Given the description of an element on the screen output the (x, y) to click on. 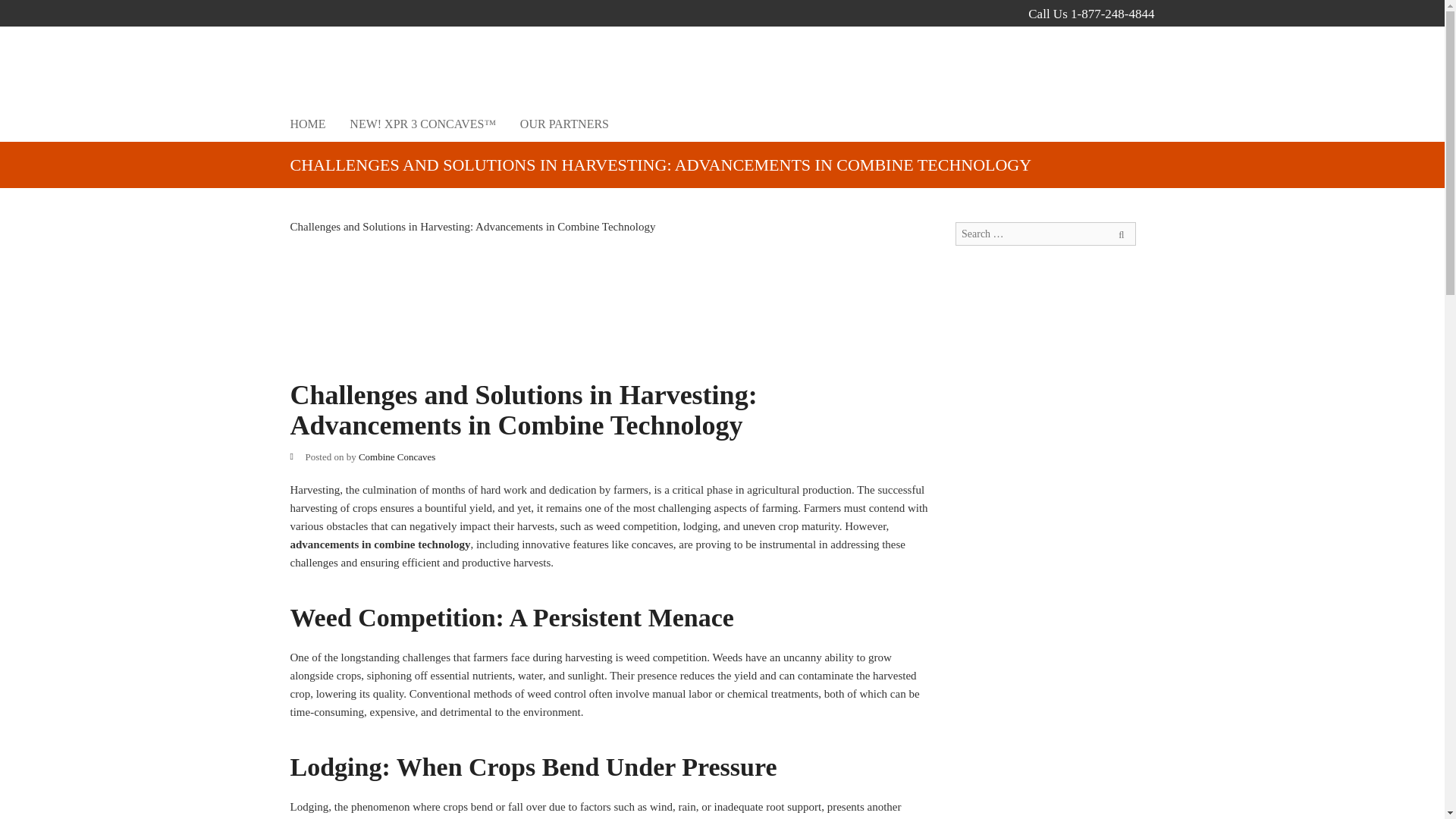
Combine Concaves (396, 456)
OUR PARTNERS (563, 123)
HOME (306, 123)
advancements in combine technology (379, 544)
